Given the description of an element on the screen output the (x, y) to click on. 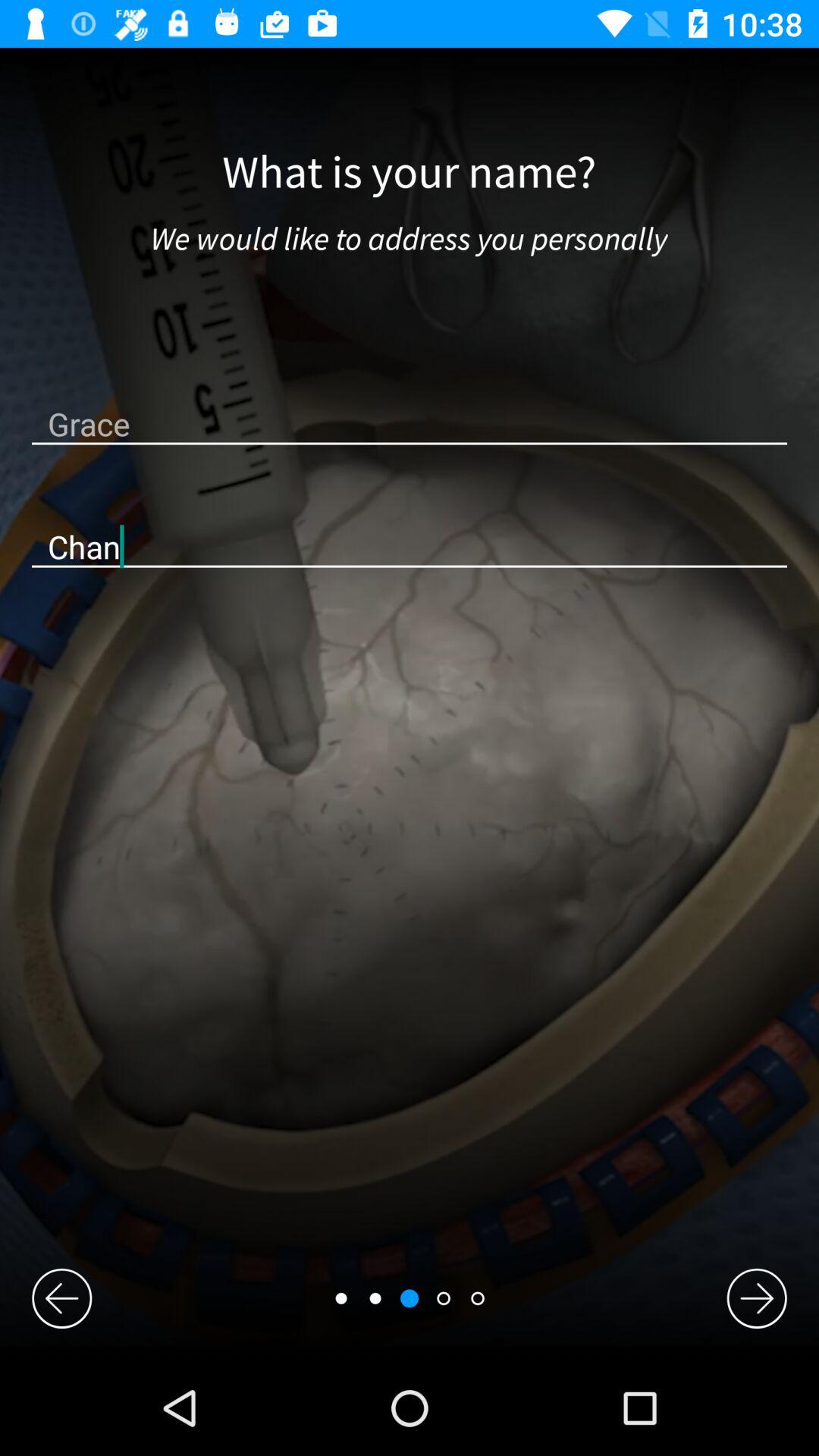
flip to chan icon (409, 546)
